Given the description of an element on the screen output the (x, y) to click on. 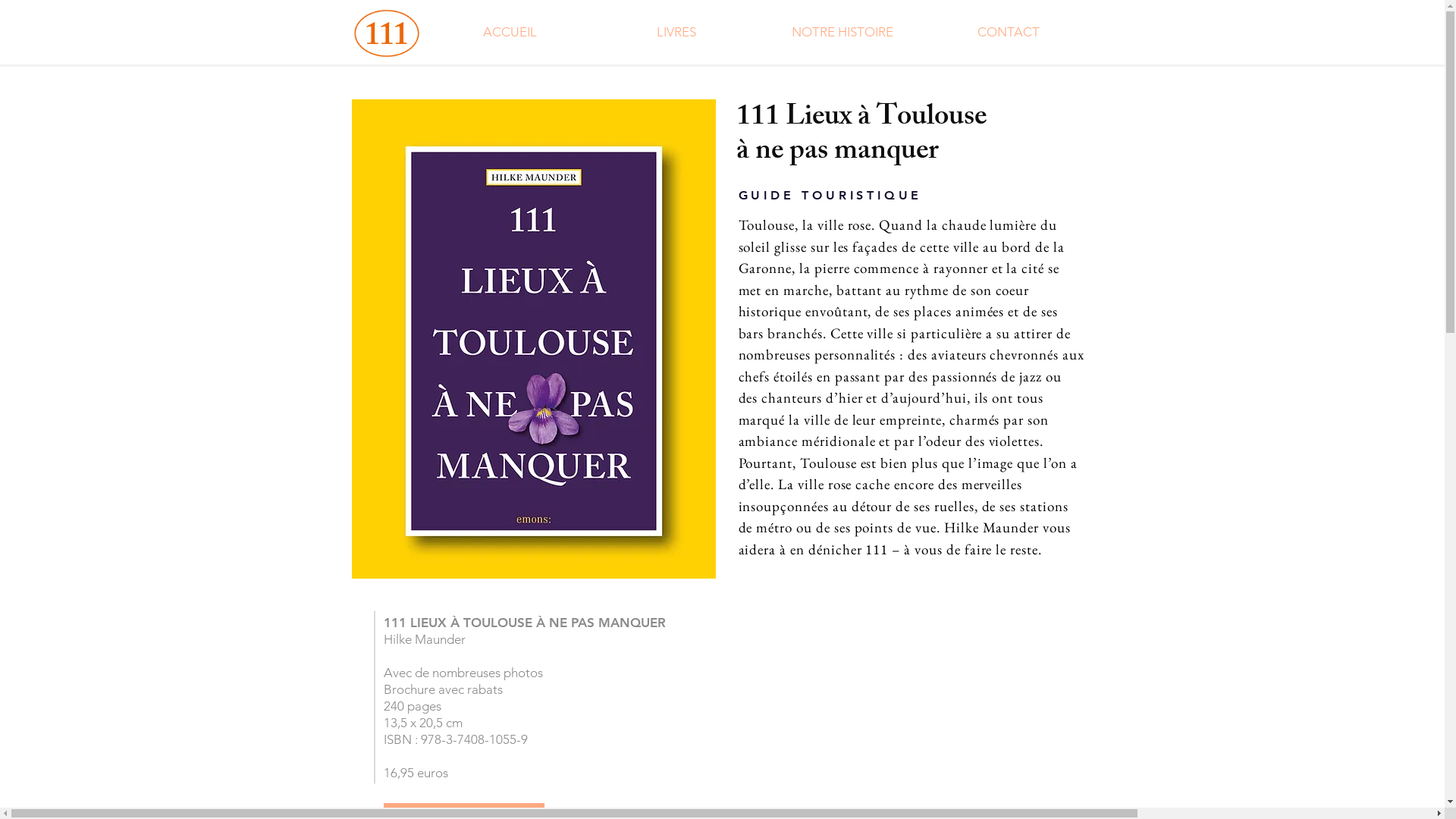
LIVRES Element type: text (676, 31)
ACCUEIL Element type: text (509, 31)
CONTACT Element type: text (1008, 31)
NOTRE HISTOIRE Element type: text (842, 31)
